Given the description of an element on the screen output the (x, y) to click on. 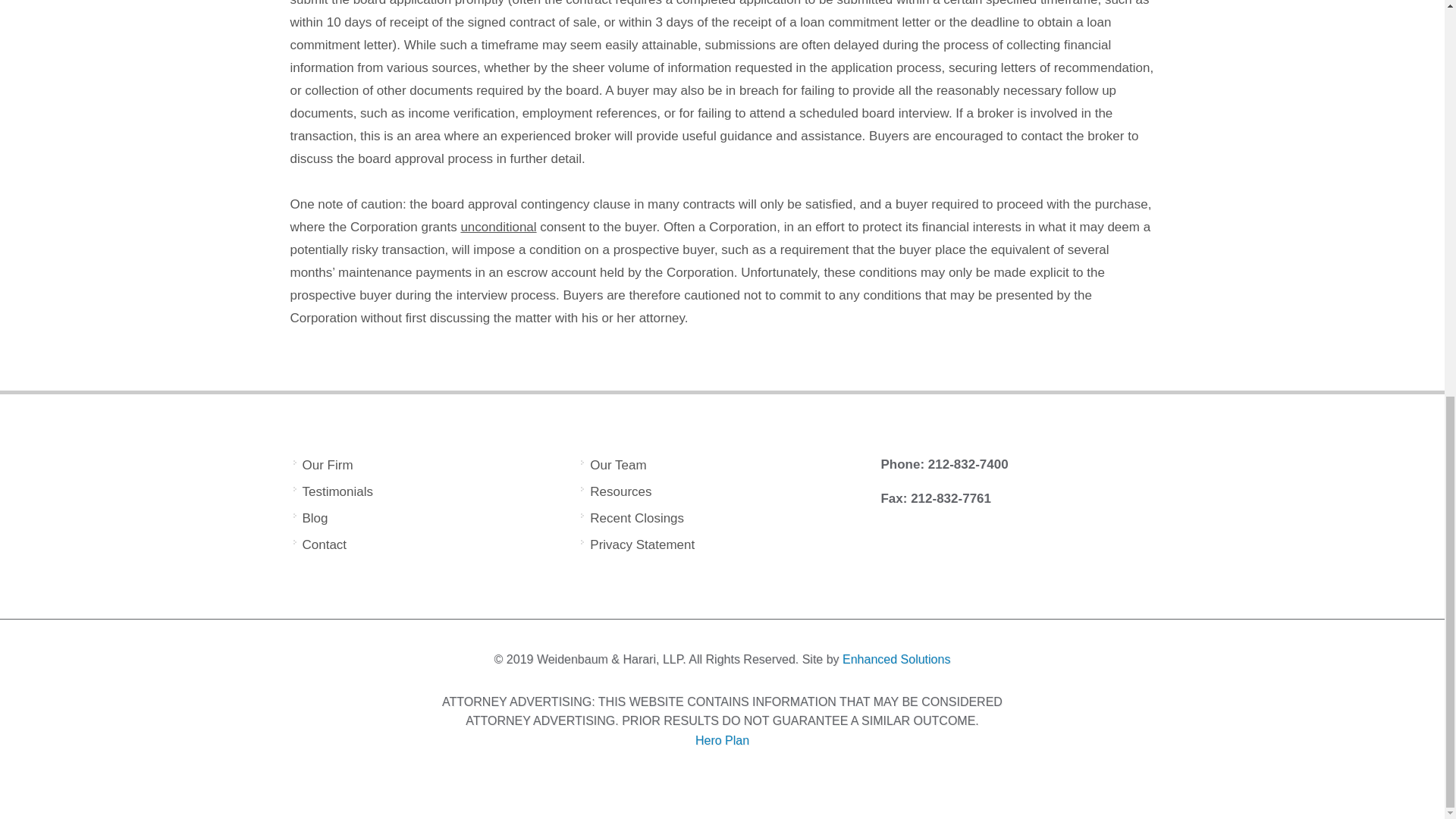
Privacy Statement (638, 544)
Our Team (613, 465)
Recent Closings (632, 517)
Enhanced Solutions (896, 658)
Testimonials (333, 491)
Blog (311, 517)
Our Firm (323, 465)
Resources (616, 491)
Contact (320, 544)
Hero Plan (722, 739)
